Given the description of an element on the screen output the (x, y) to click on. 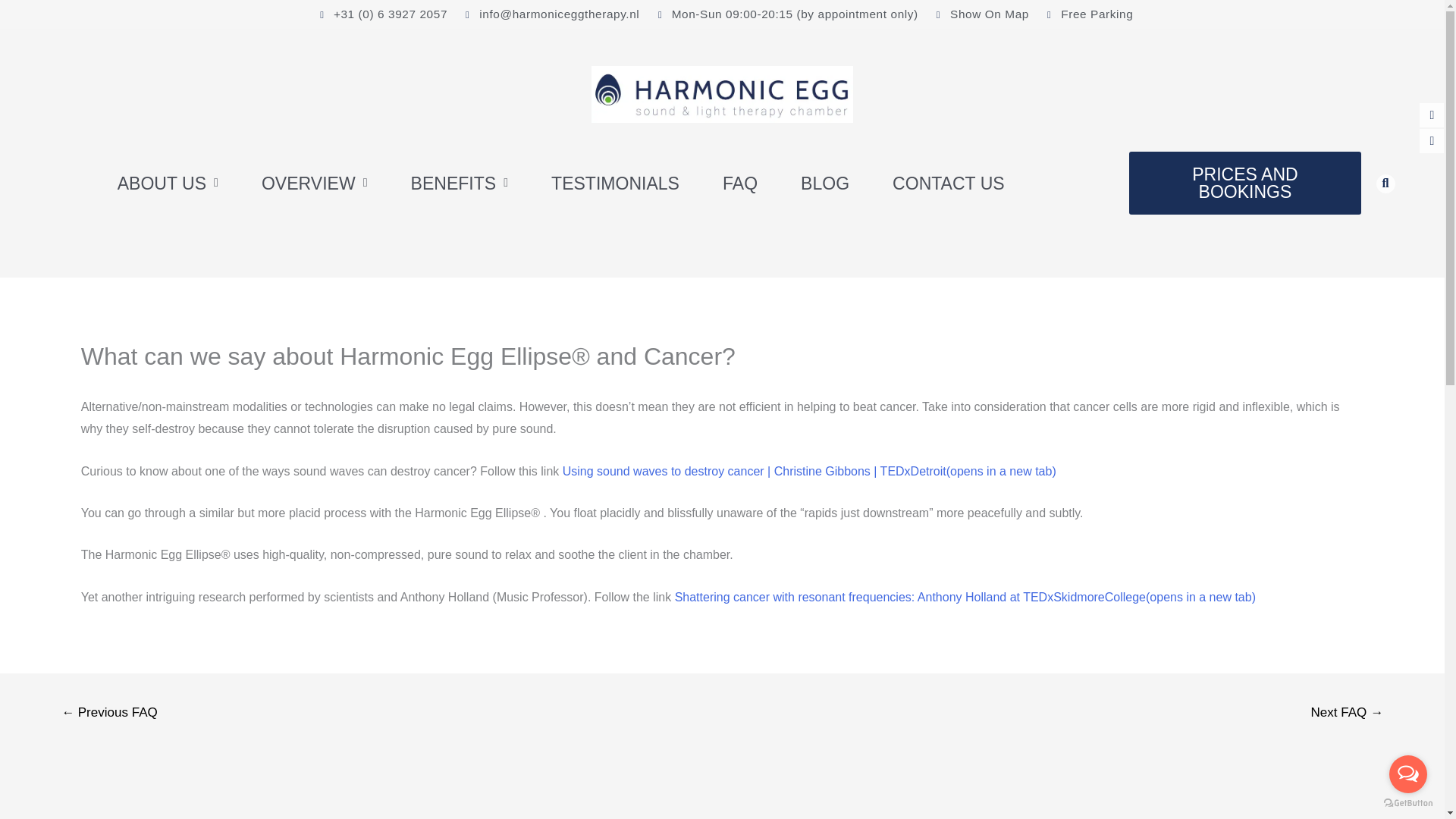
Free Parking (1085, 14)
Show On Map (978, 14)
